Given the description of an element on the screen output the (x, y) to click on. 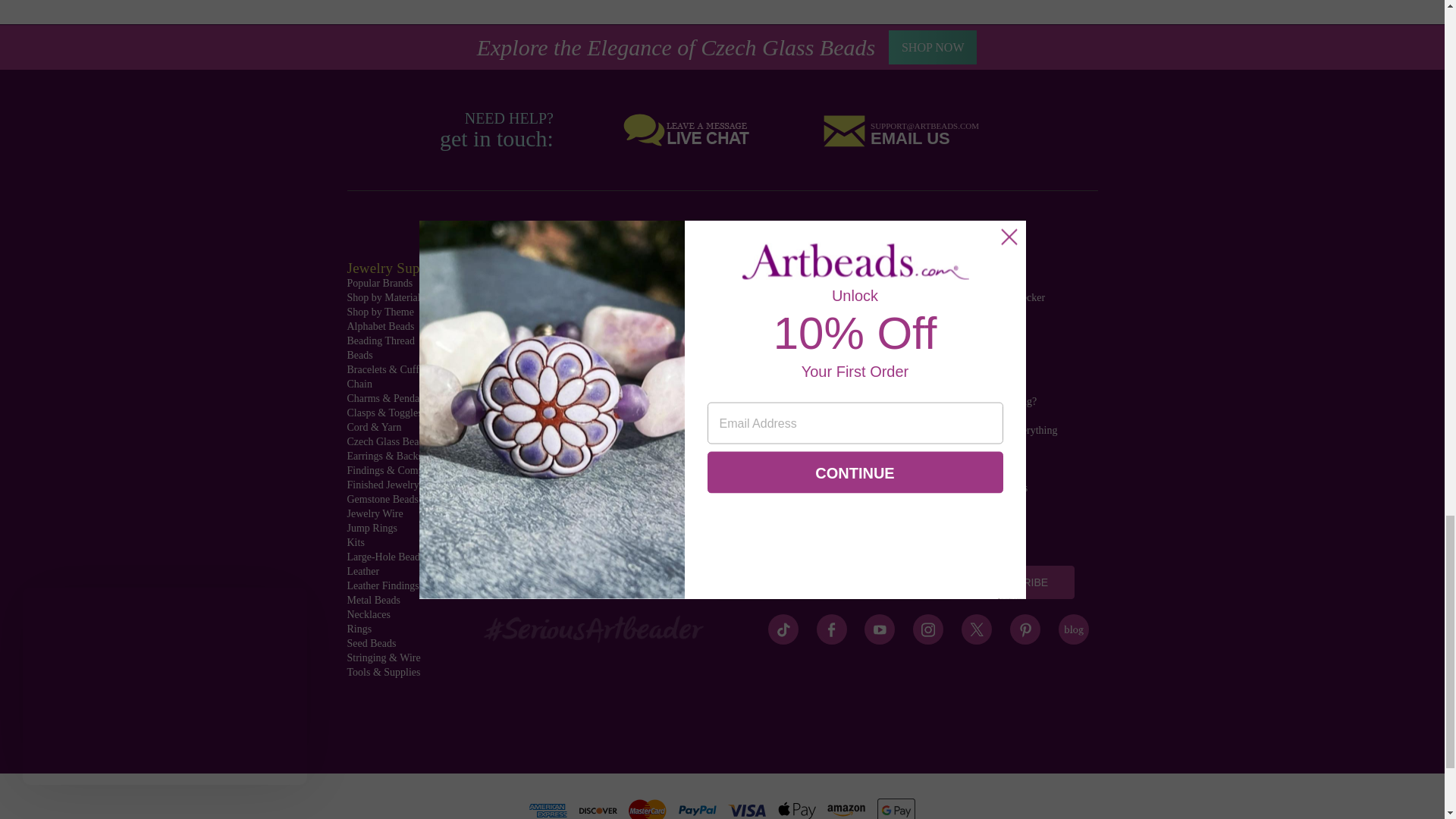
Subscribe (1017, 582)
